Given the description of an element on the screen output the (x, y) to click on. 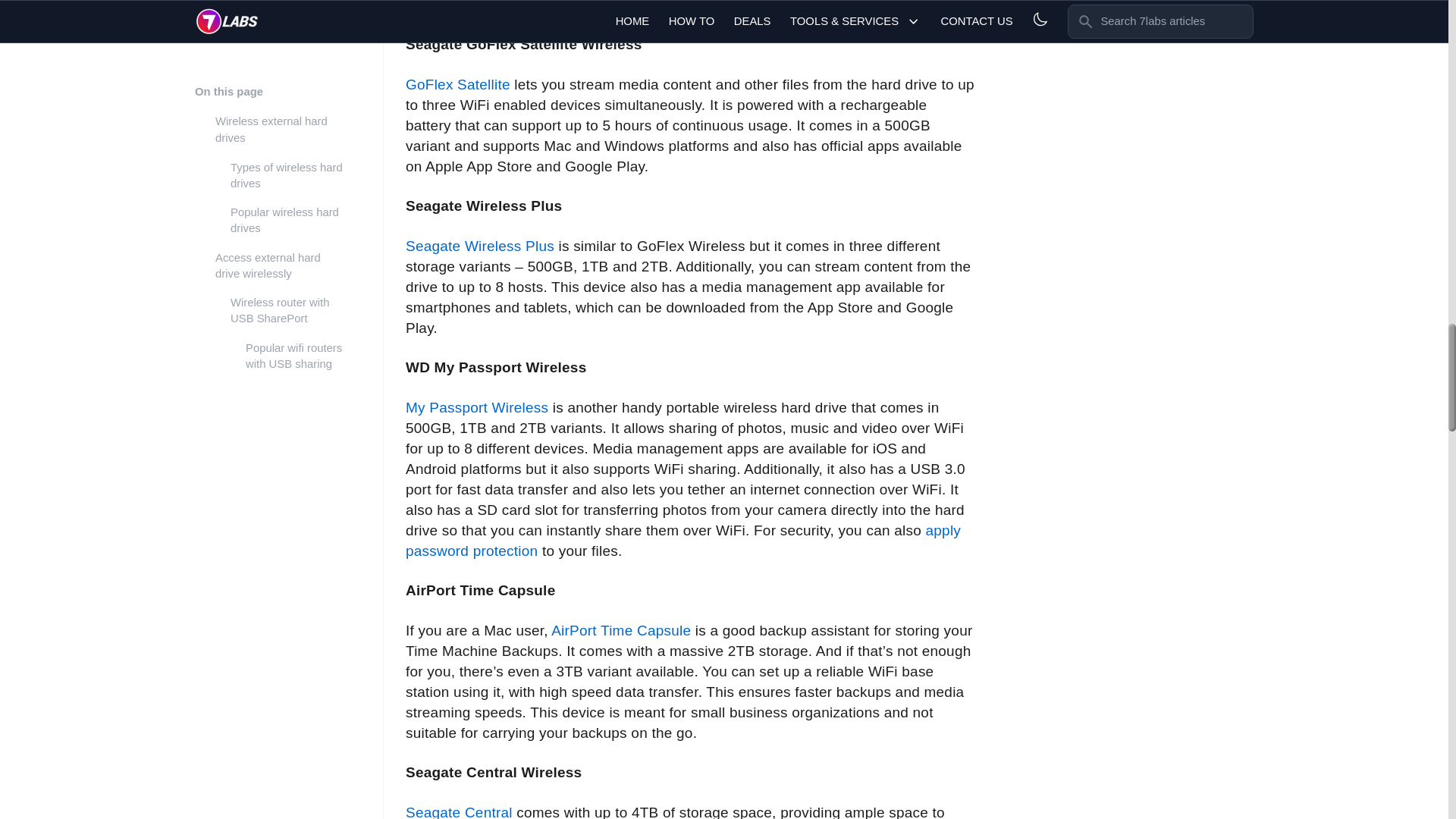
GoFlex Satellite Wireless (458, 84)
My Passport Wireless (477, 407)
GoFlex Satellite (458, 84)
AirPort Time Capsule (620, 630)
Seagate Wireless Plus (480, 245)
Apple - Mac - AirPort Time Capsule (620, 630)
Seagate Central (459, 811)
Home Sharing, Media Streaming, Wireless Backup - Seagate (459, 811)
Wireless Plus: Mobile Storage To Stream Your Media - Seagate (480, 245)
apply password protection (683, 540)
